Given the description of an element on the screen output the (x, y) to click on. 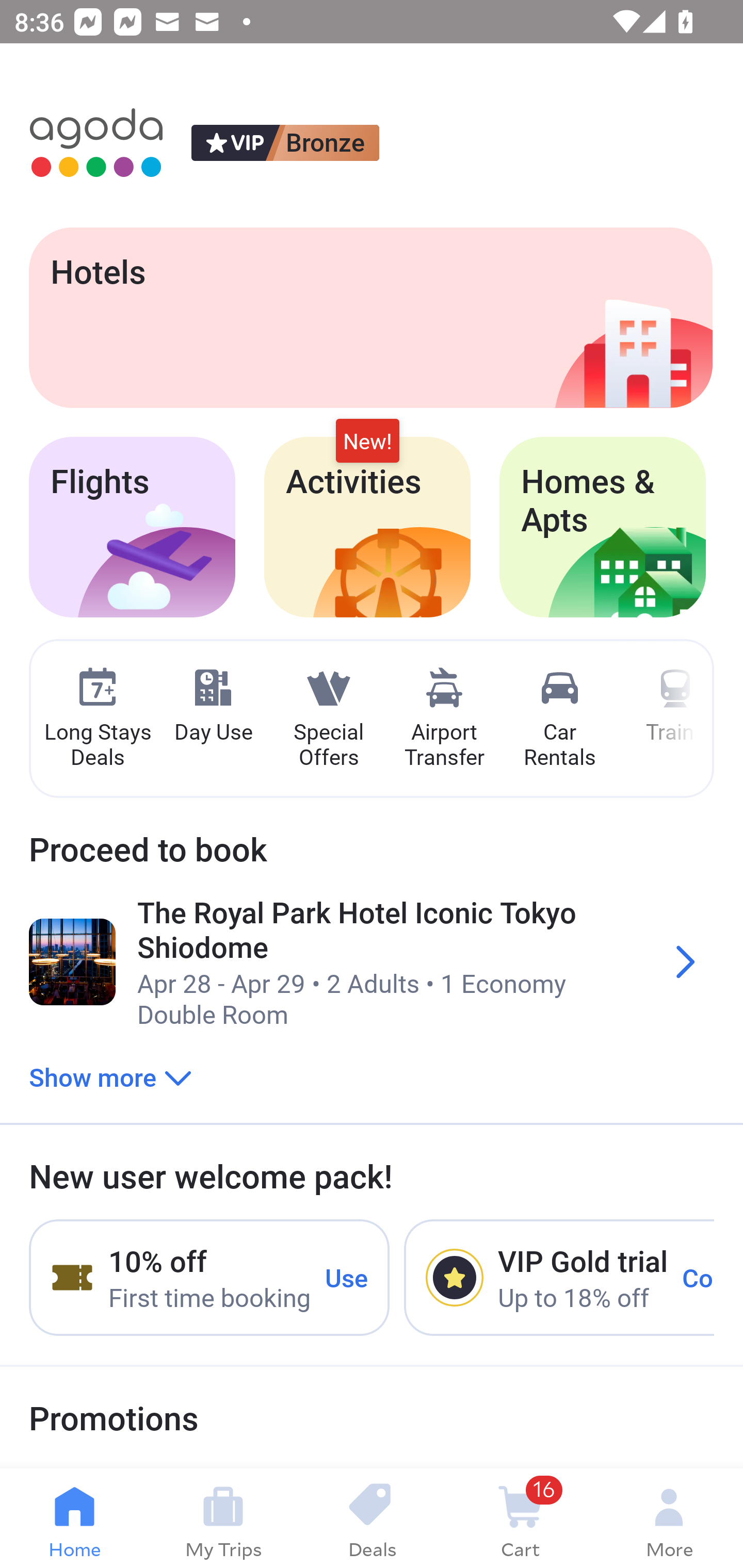
Hotels (370, 317)
New! (367, 441)
Flights (131, 527)
Activities (367, 527)
Homes & Apts (602, 527)
Day Use (213, 706)
Long Stays Deals (97, 718)
Special Offers (328, 718)
Airport Transfer (444, 718)
Car Rentals (559, 718)
Show more (110, 1076)
Use (346, 1277)
Home (74, 1518)
My Trips (222, 1518)
Deals (371, 1518)
16 Cart (519, 1518)
More (668, 1518)
